Given the description of an element on the screen output the (x, y) to click on. 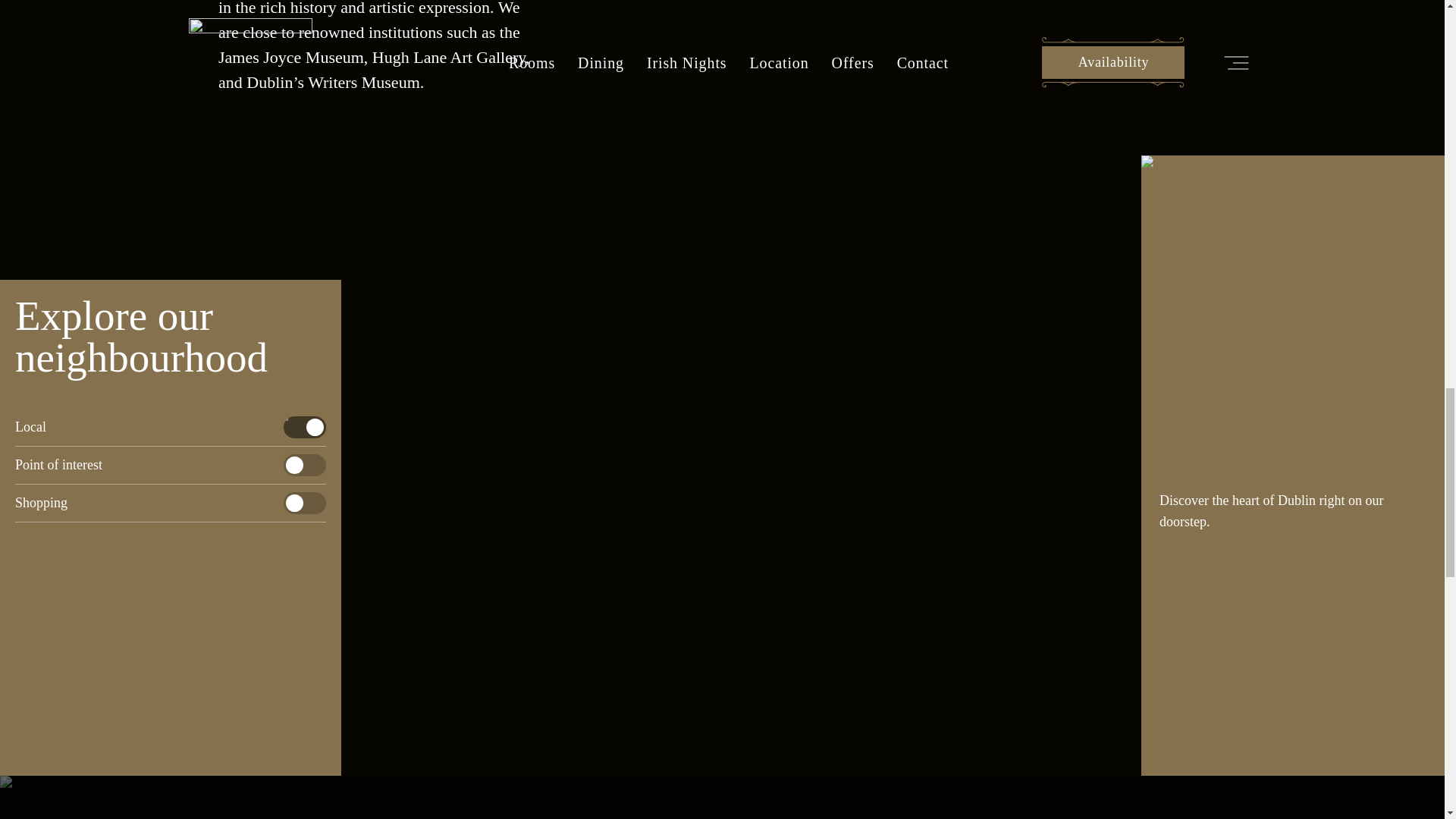
Enable filter (304, 427)
Enable filter (304, 464)
Enable filter (304, 503)
